Given the description of an element on the screen output the (x, y) to click on. 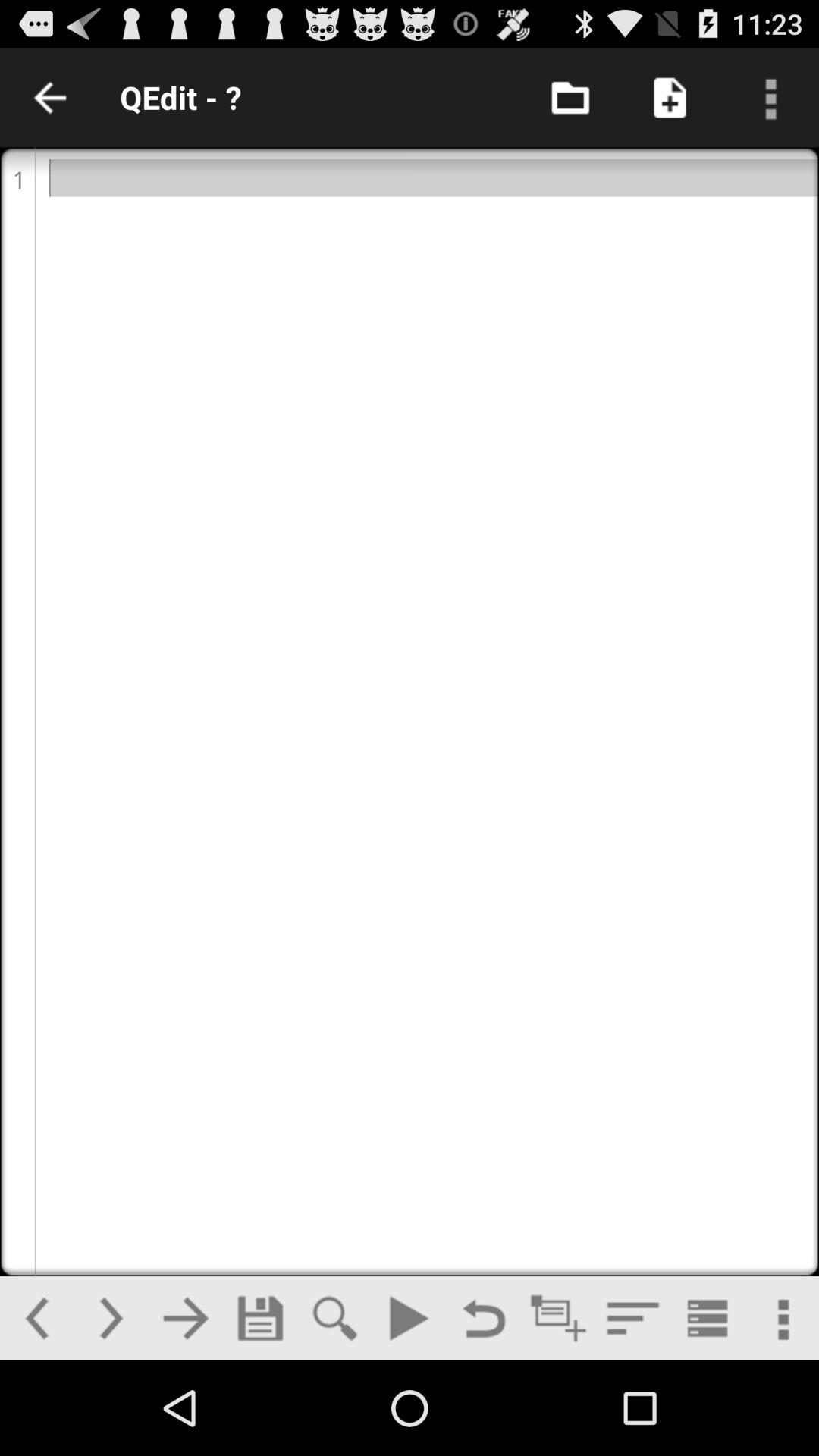
go to memory (259, 1318)
